Given the description of an element on the screen output the (x, y) to click on. 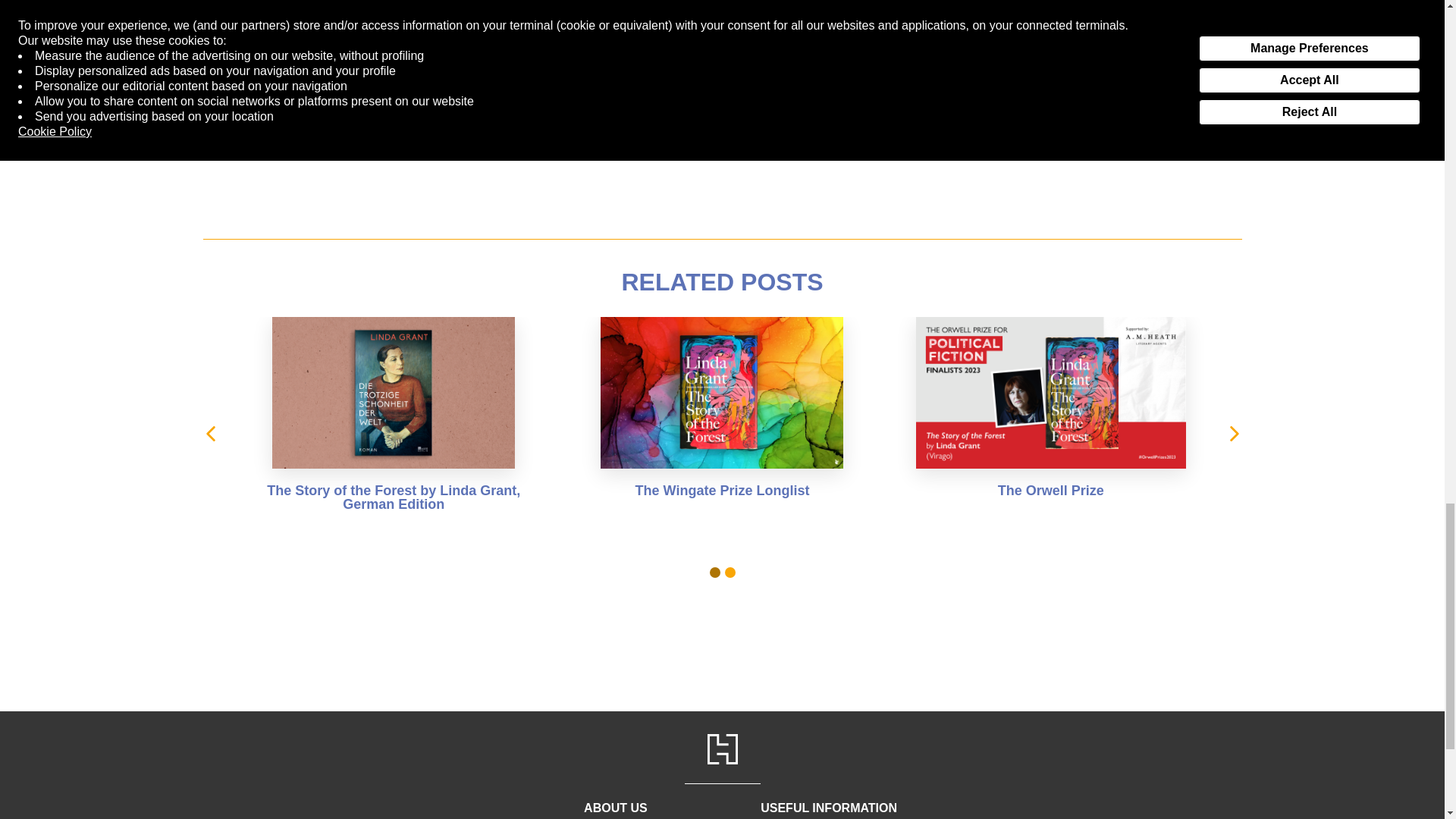
Right Arrow Right arrow icon (1233, 433)
The Wingate Prize Longlist (721, 421)
The Story of the Forest by Linda Grant, German Edition (392, 421)
Left Arrow Left arrow icon (209, 433)
The Orwell Prize (1050, 421)
Hachette Logo Large H Initial (721, 748)
